Given the description of an element on the screen output the (x, y) to click on. 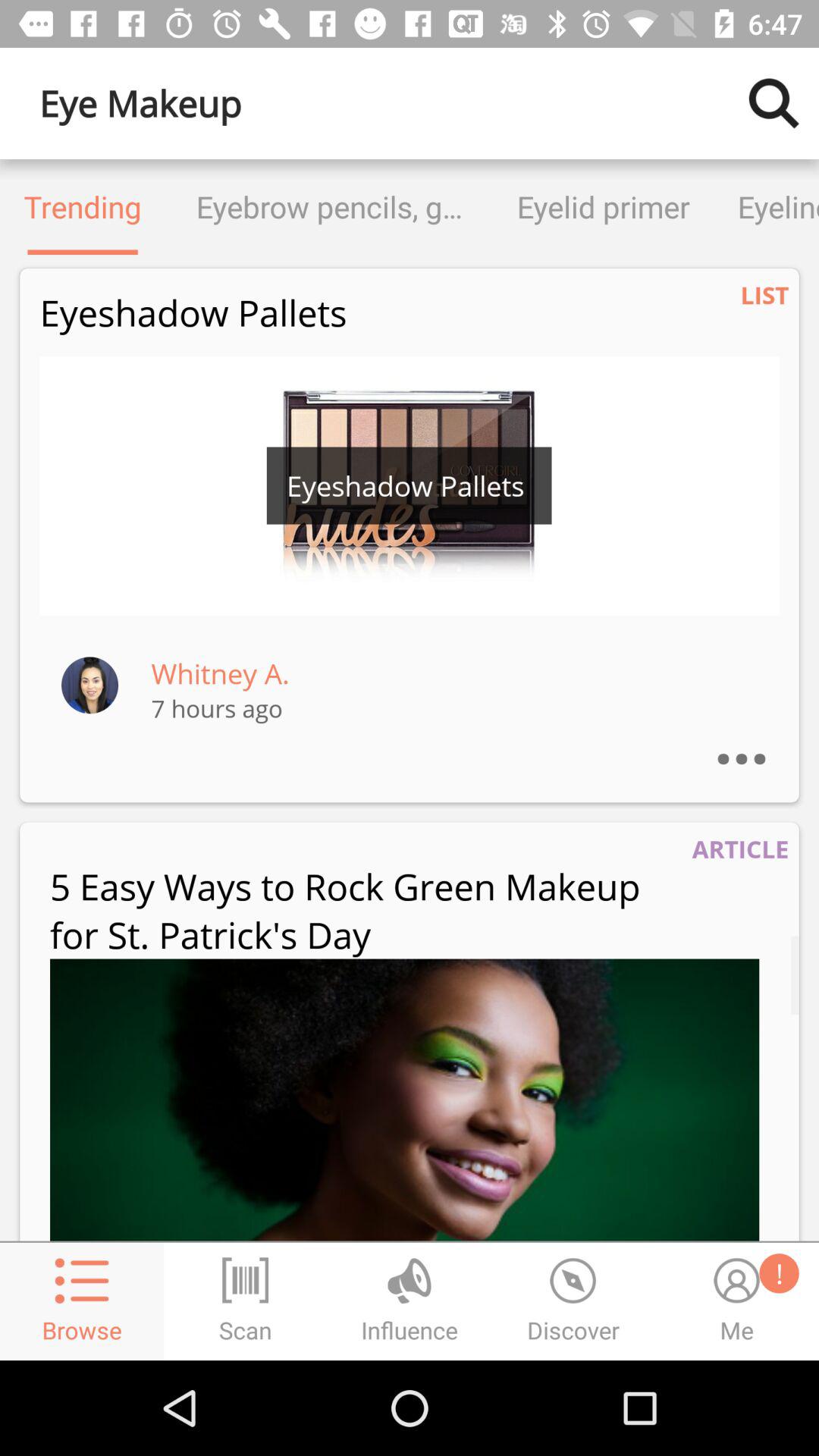
select the item below the eyeshadow pallets  item (409, 485)
